Given the description of an element on the screen output the (x, y) to click on. 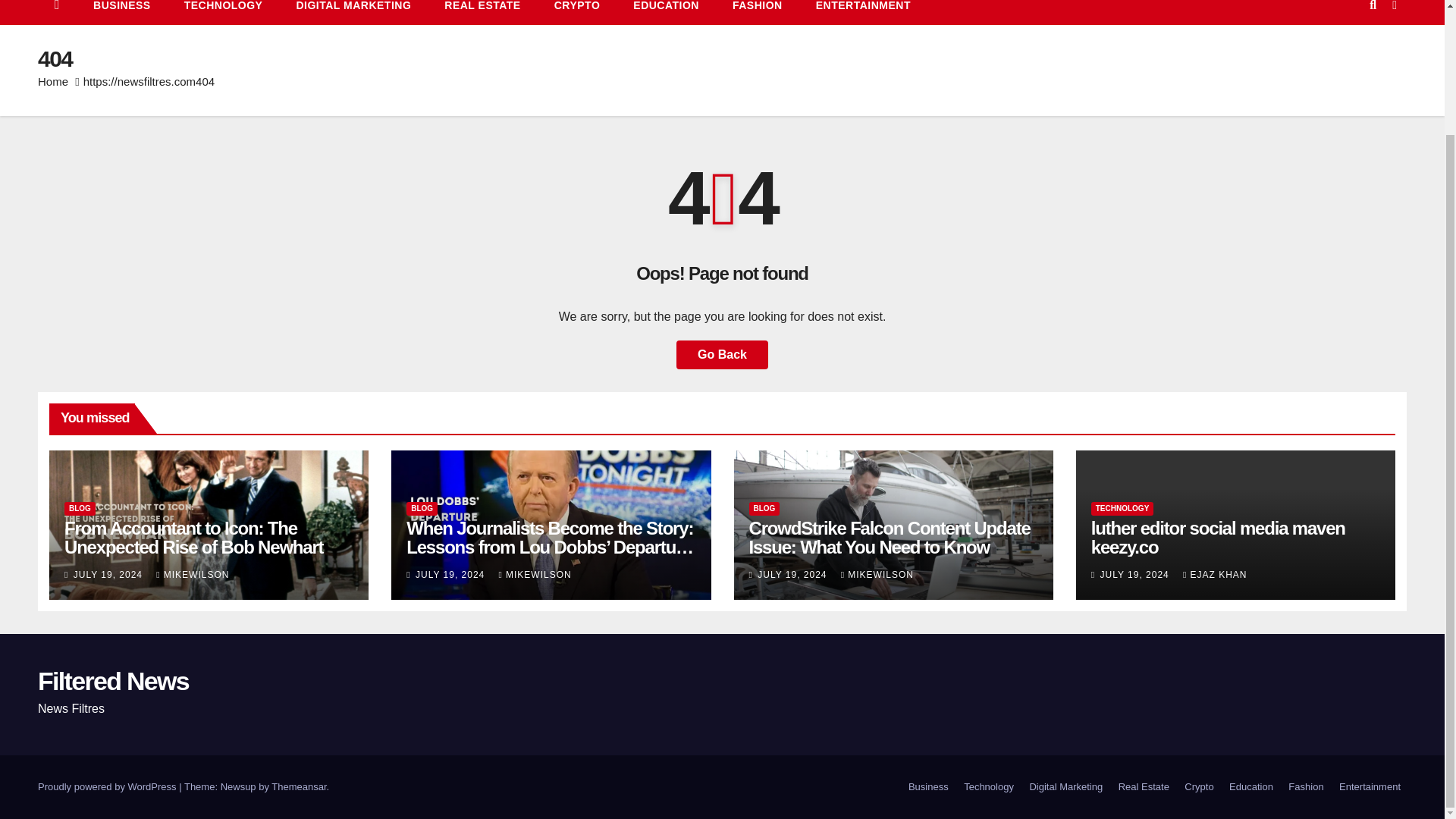
Technology (989, 786)
Technology (223, 12)
Business (928, 786)
Digital Marketing (353, 12)
JULY 19, 2024 (450, 574)
REAL ESTATE (482, 12)
TECHNOLOGY (223, 12)
From Accountant to Icon: The Unexpected Rise of Bob Newhart (193, 537)
JULY 19, 2024 (110, 574)
